Given the description of an element on the screen output the (x, y) to click on. 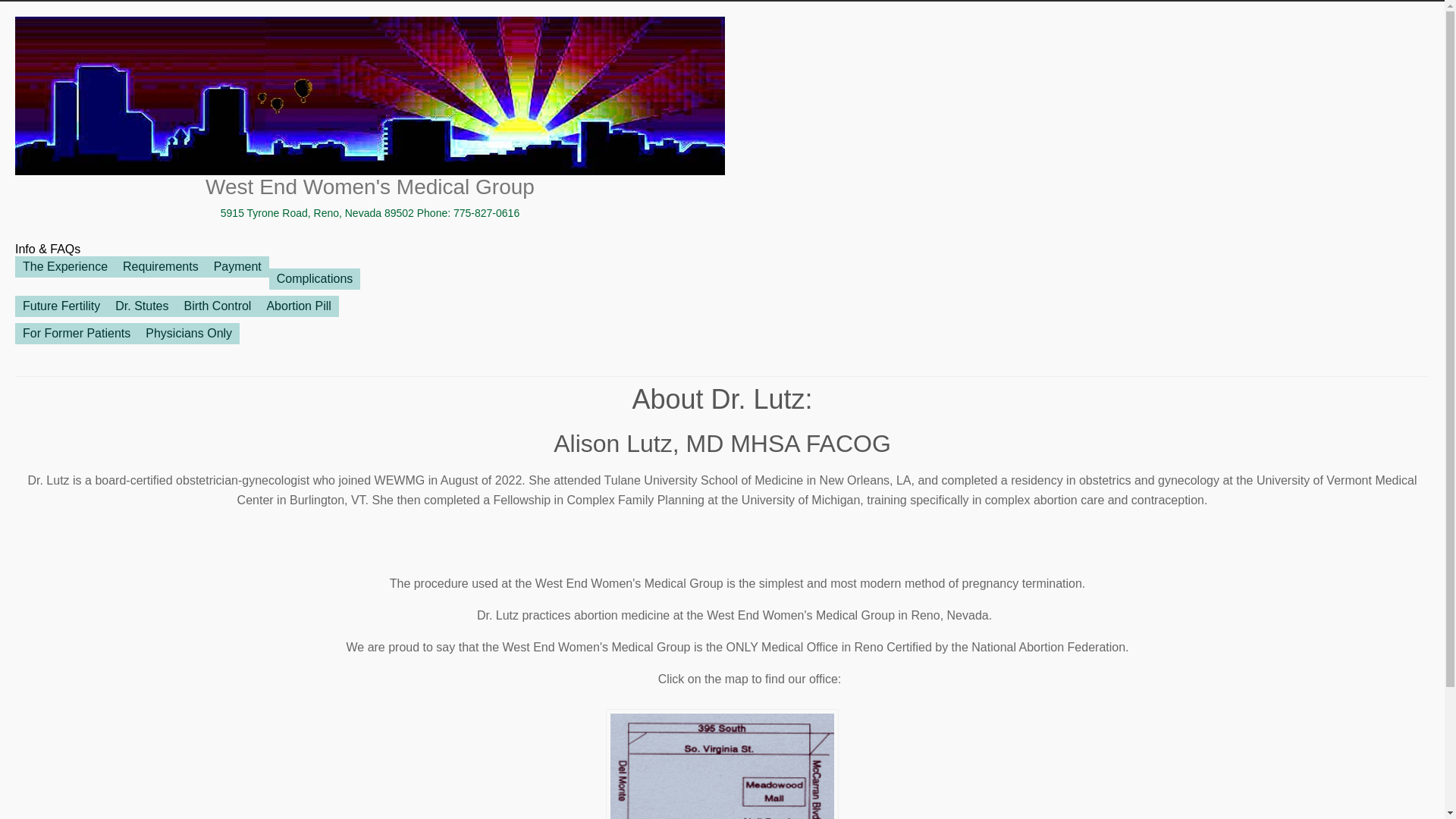
Birth Control Element type: text (216, 305)
Dr. Stutes Element type: text (141, 305)
Physicians Only Element type: text (188, 333)
Complications Element type: text (314, 278)
The Experience Element type: text (65, 266)
Future Fertility Element type: text (61, 305)
Abortion Pill Element type: text (298, 305)
For Former Patients Element type: text (76, 333)
Requirements Element type: text (160, 266)
Payment Element type: text (237, 266)
